Given the description of an element on the screen output the (x, y) to click on. 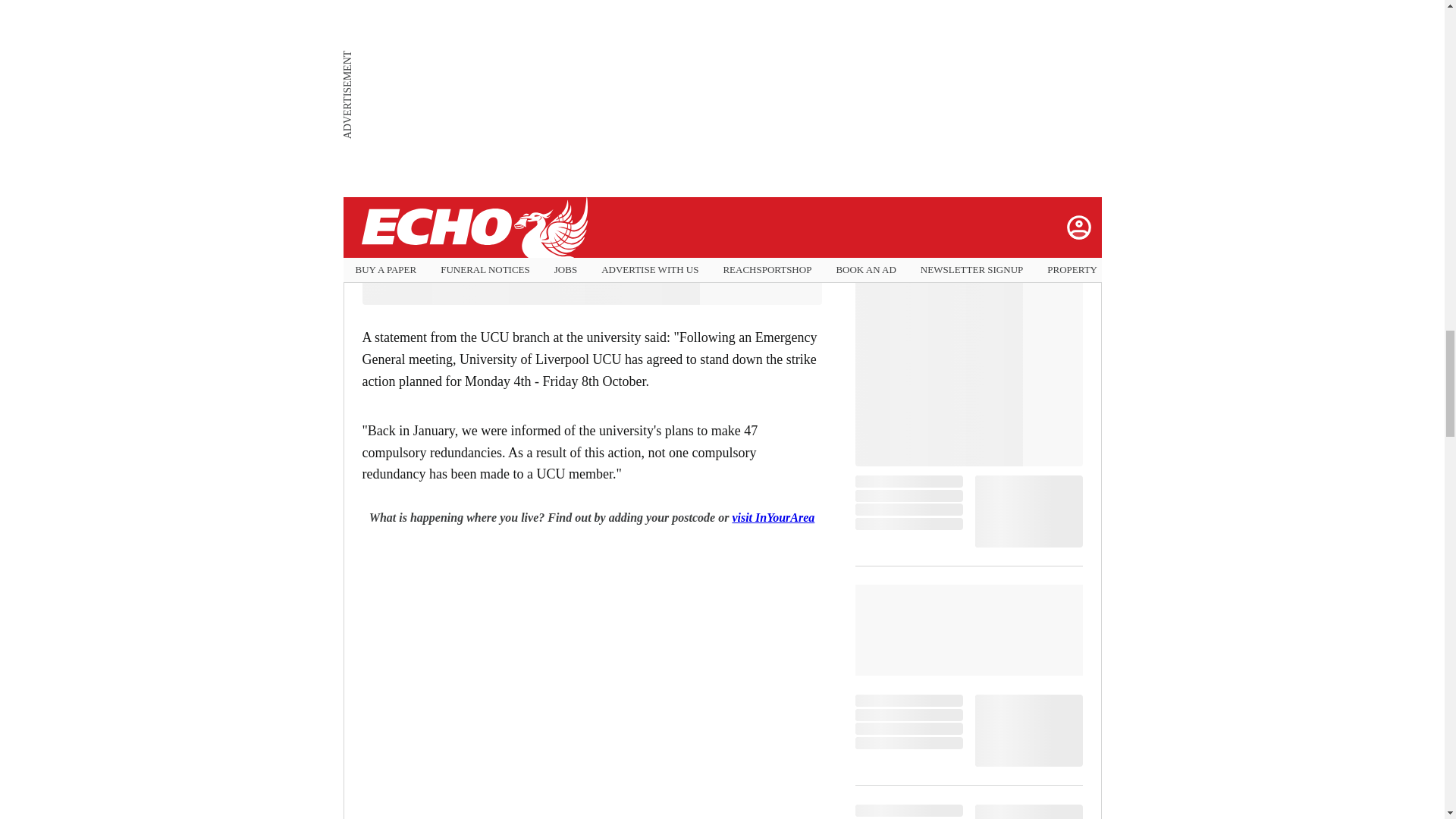
visit InYourArea (772, 517)
